Given the description of an element on the screen output the (x, y) to click on. 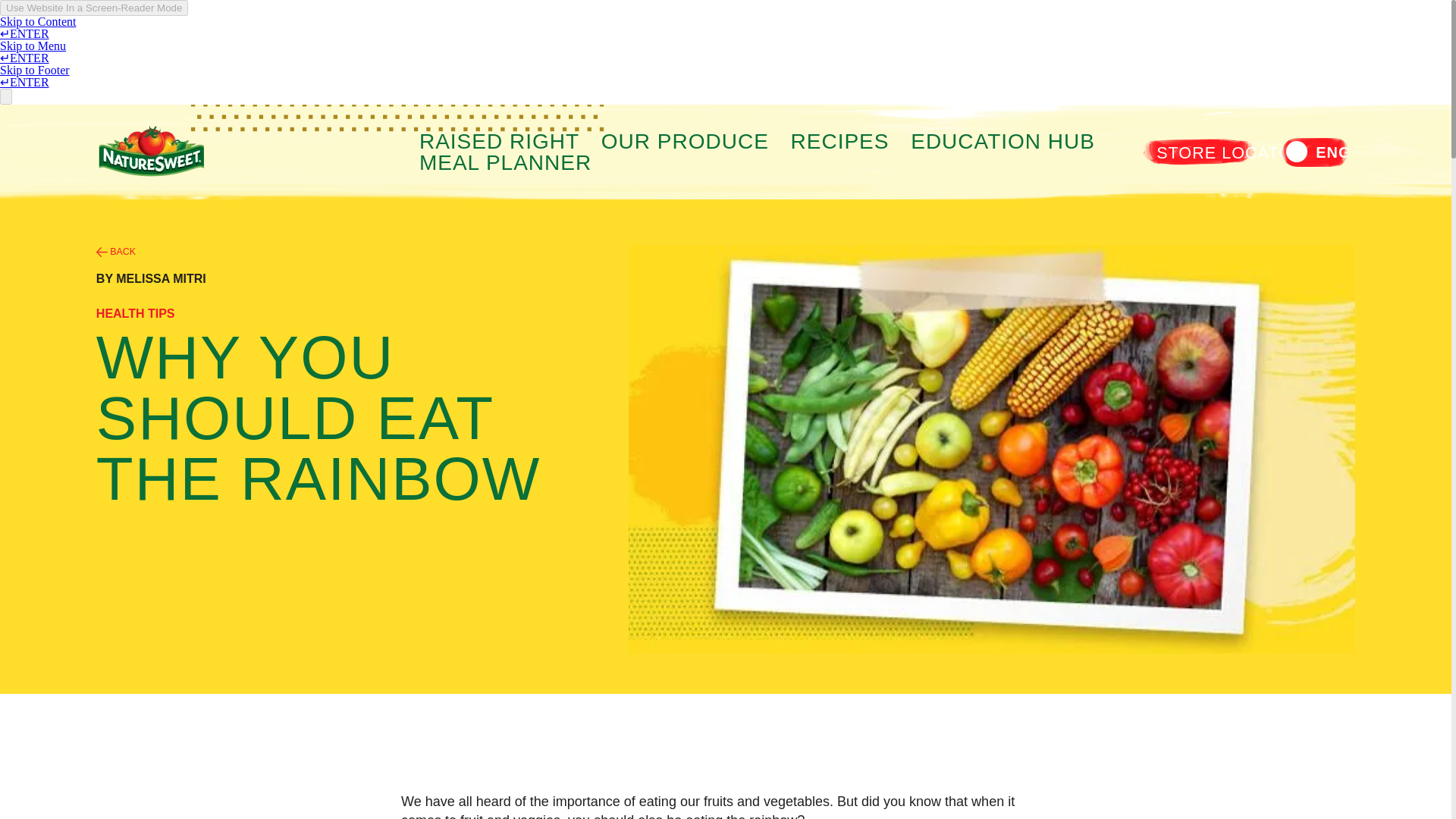
MEAL PLANNER (505, 161)
RECIPES (839, 140)
OUR PRODUCE (684, 140)
RAISED RIGHT (499, 140)
STORE LOCATOR (1230, 152)
EDUCATION HUB (1002, 140)
BACK (115, 251)
